Given the description of an element on the screen output the (x, y) to click on. 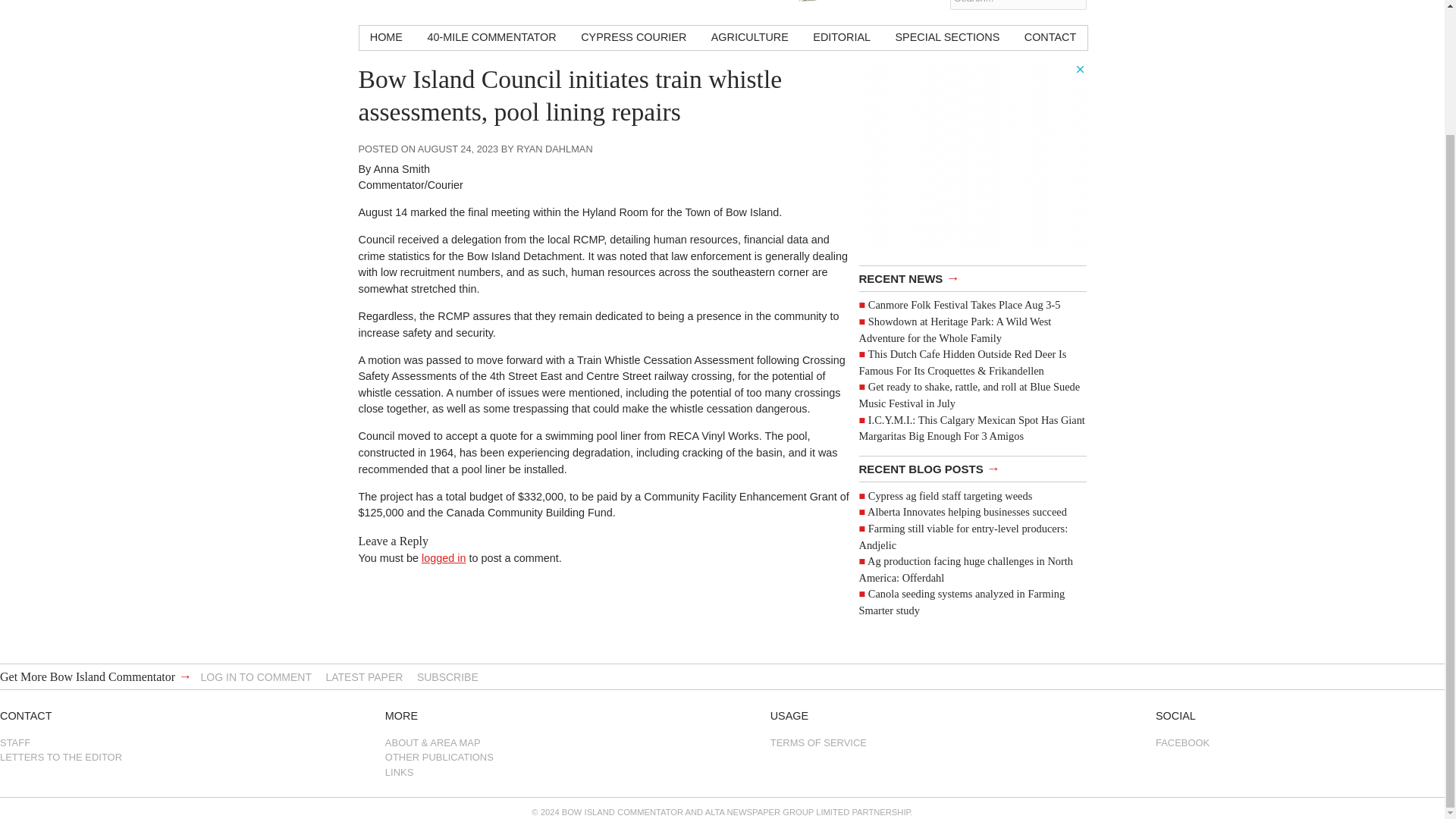
Alberta Innovates helping businesses succeed (967, 511)
Canola seeding systems analyzed in Farming Smarter study (961, 602)
AGRICULTURE (749, 37)
3rd party ad content (972, 157)
CYPRESS COURIER (633, 37)
logged in (443, 558)
Farming still viable for entry-level producers: Andjelic (963, 536)
SPECIAL SECTIONS (946, 37)
Canmore Folk Festival Takes Place Aug 3-5 (964, 304)
STAFF (144, 742)
LOG IN TO COMMENT (256, 676)
